Given the description of an element on the screen output the (x, y) to click on. 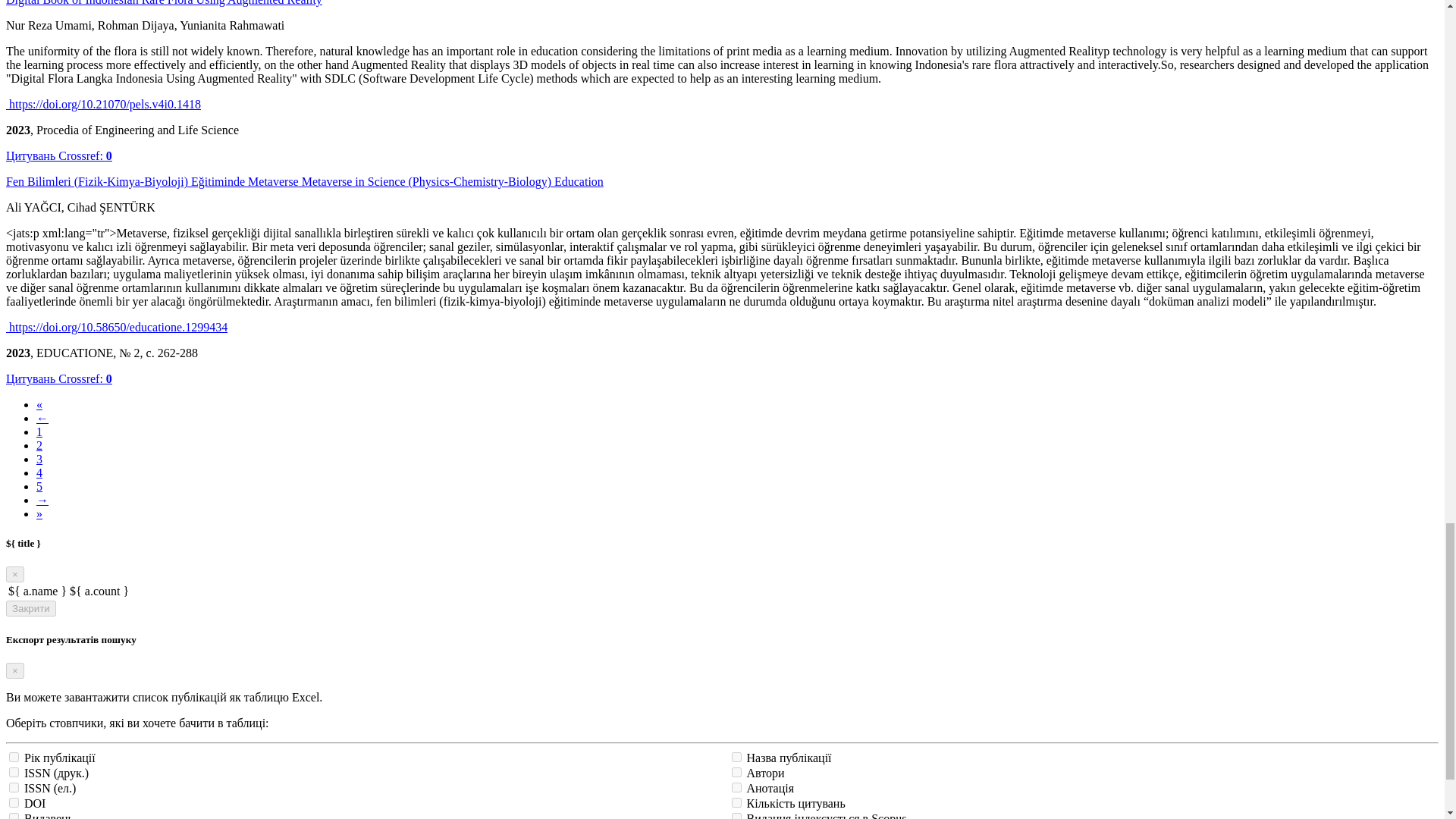
on (735, 787)
on (735, 757)
on (735, 816)
on (735, 772)
on (13, 787)
on (13, 772)
on (735, 802)
on (13, 757)
on (13, 802)
on (13, 816)
